Given the description of an element on the screen output the (x, y) to click on. 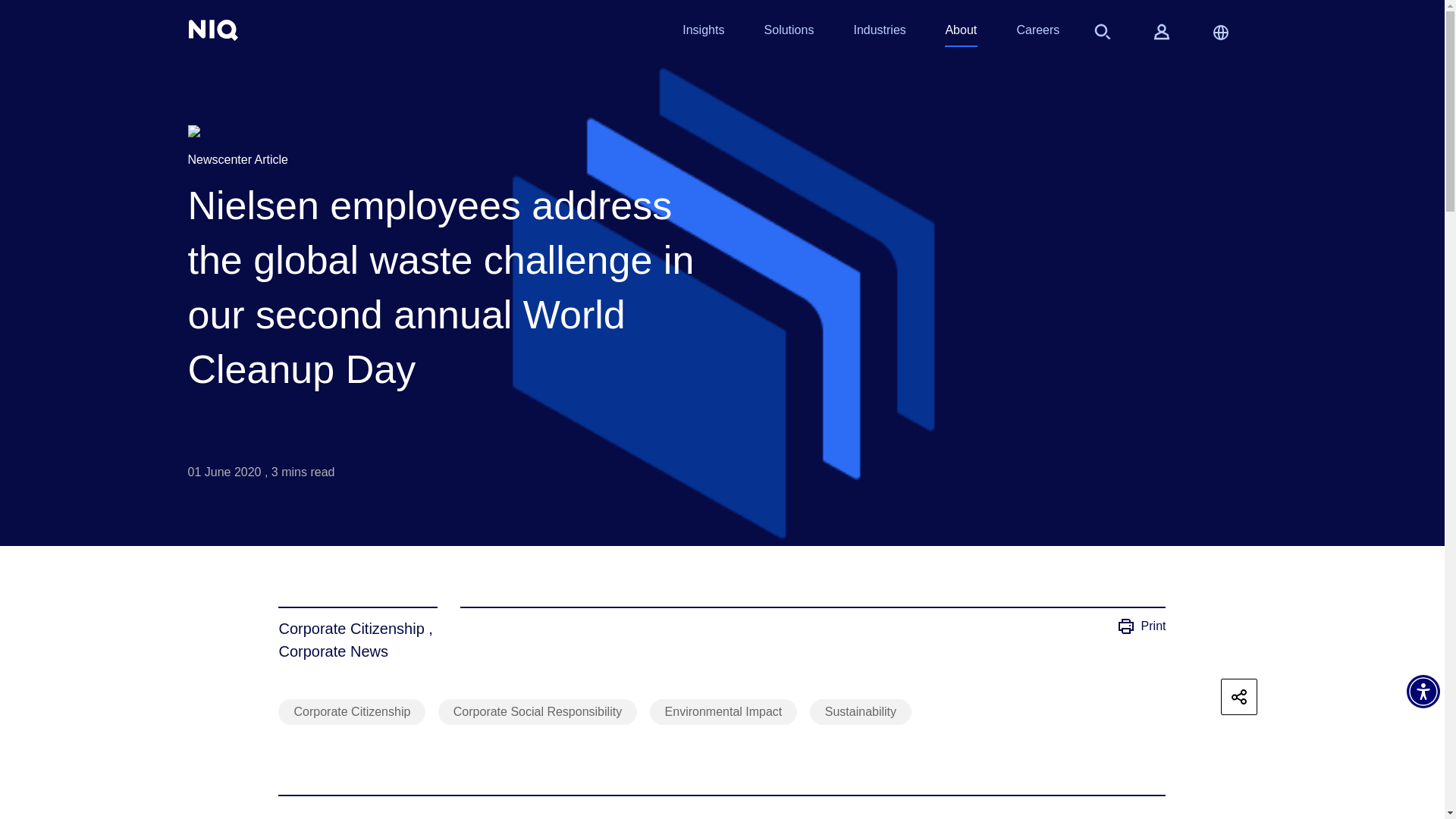
Insights (703, 33)
Industries (878, 33)
Insights (703, 33)
Solutions (788, 33)
Accessibility Menu (1422, 691)
Solutions (788, 33)
